Given the description of an element on the screen output the (x, y) to click on. 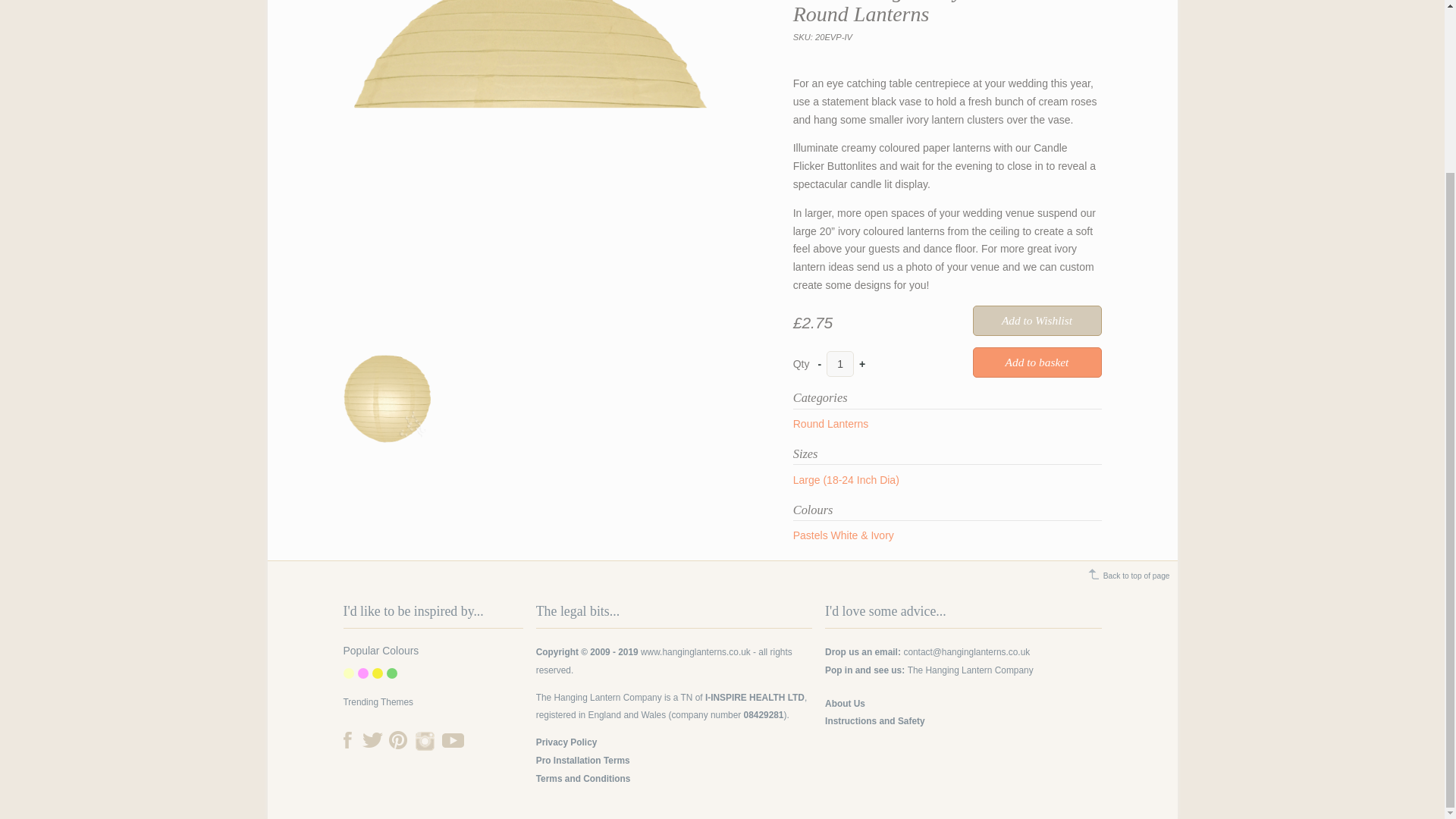
Add to Wishlist (1036, 320)
1 (840, 363)
Add to basket (1036, 362)
